Given the description of an element on the screen output the (x, y) to click on. 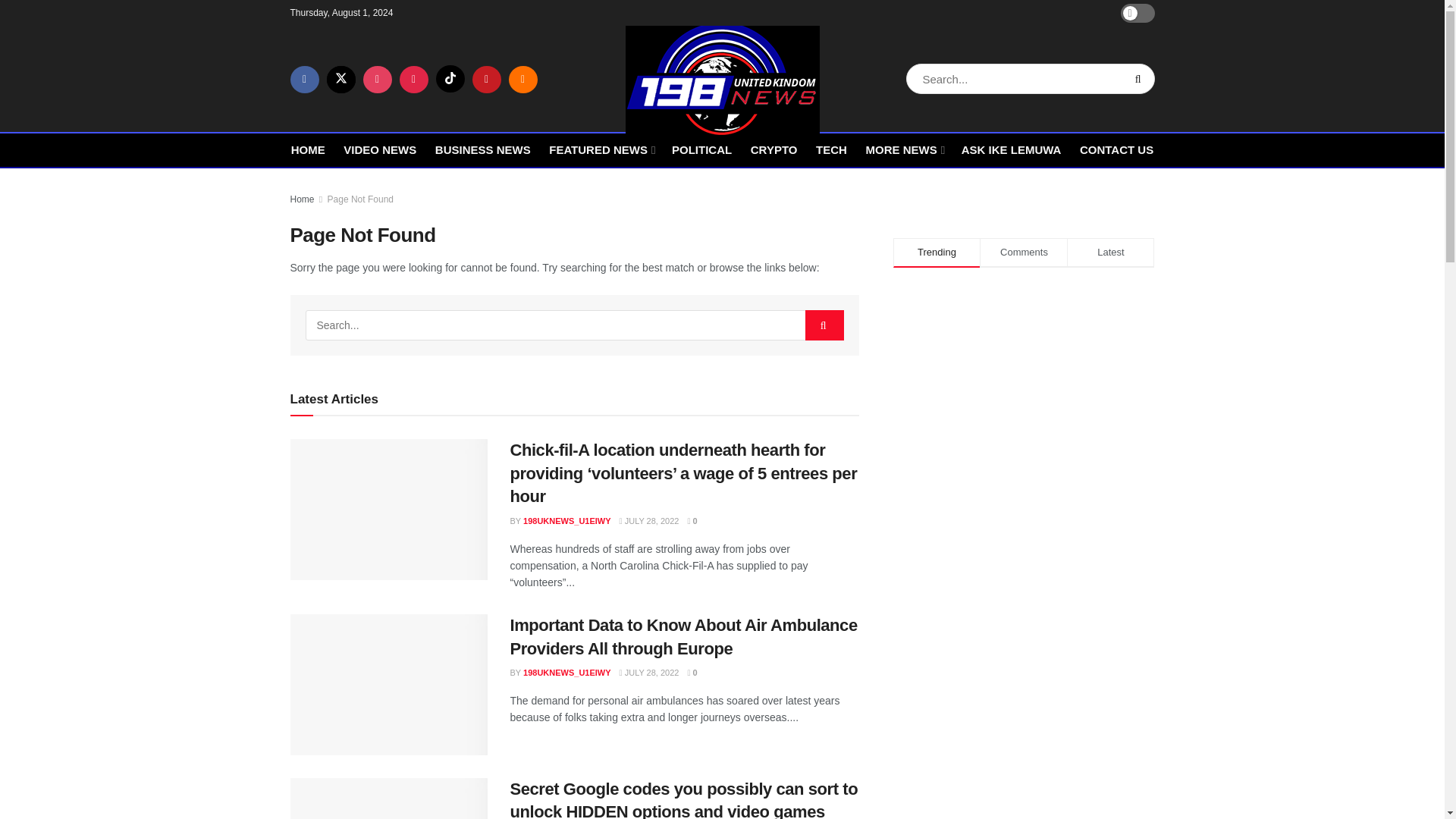
CRYPTO (774, 149)
CONTACT US (1116, 149)
MORE NEWS (903, 149)
HOME (307, 149)
TECH (831, 149)
VIDEO NEWS (379, 149)
BUSINESS NEWS (483, 149)
POLITICAL (701, 149)
ASK IKE LEMUWA (1010, 149)
FEATURED NEWS (600, 149)
